Given the description of an element on the screen output the (x, y) to click on. 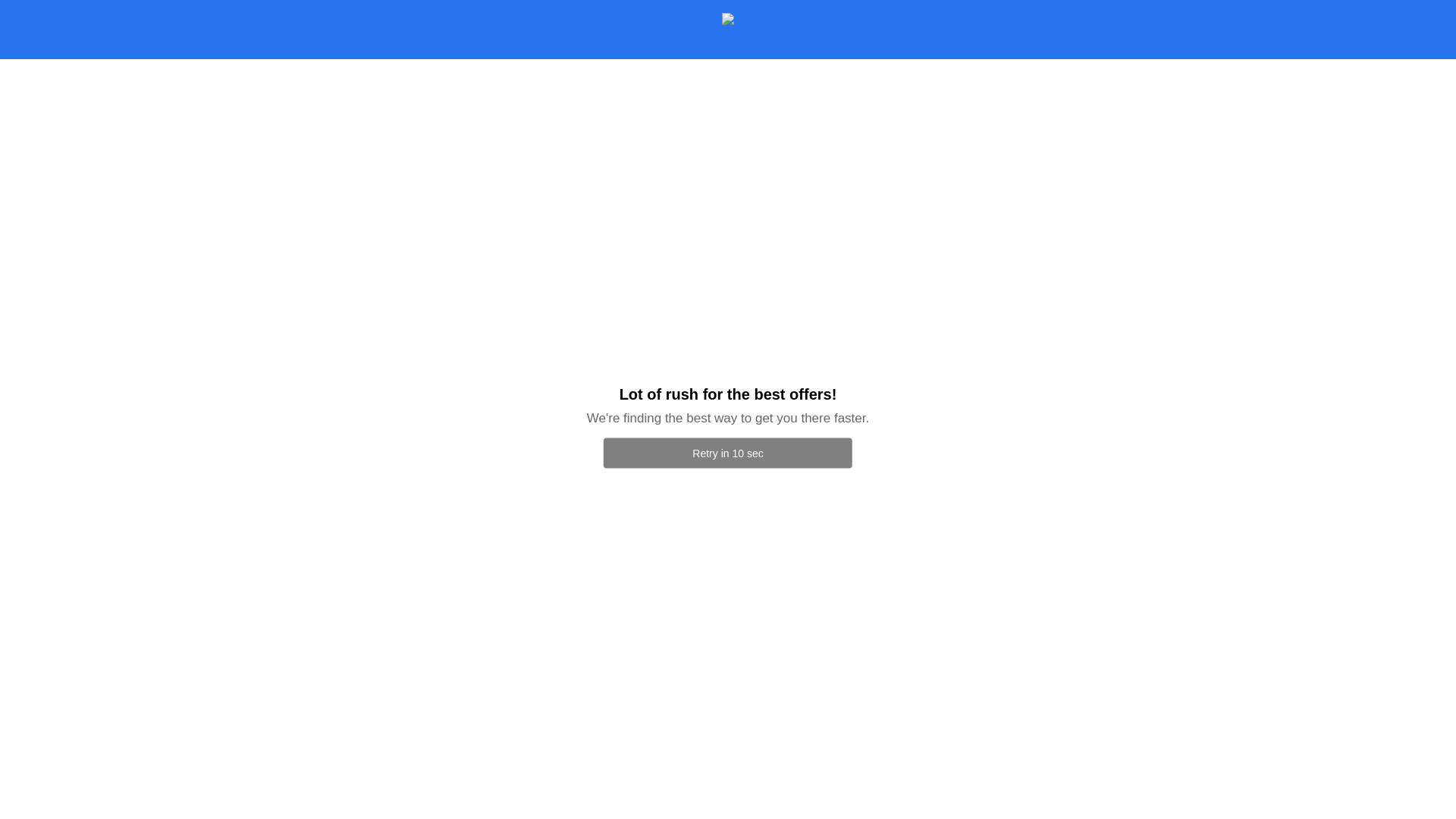
Retry in 10 sec (727, 453)
